Given the description of an element on the screen output the (x, y) to click on. 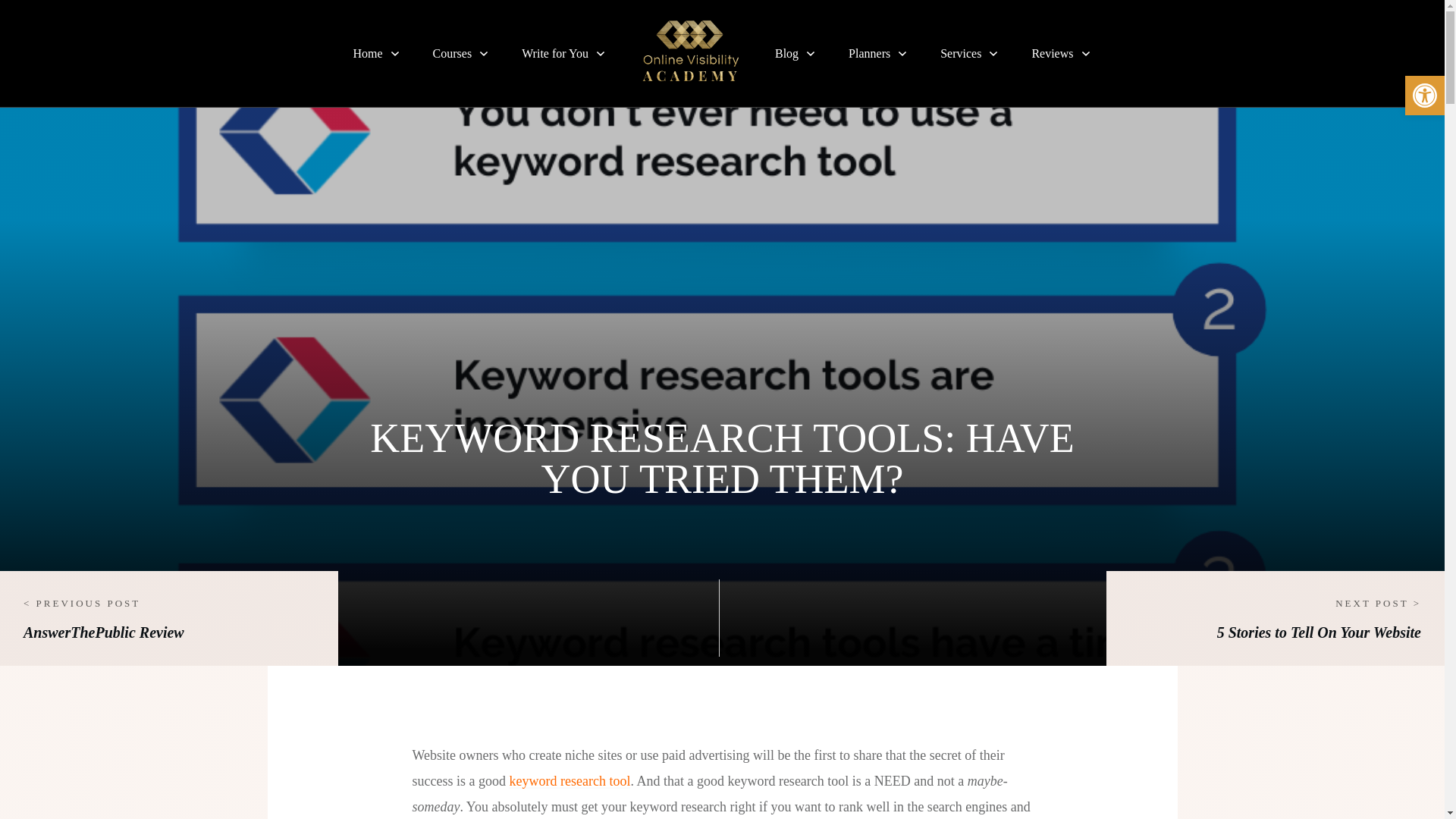
Write for You (564, 52)
Courses (461, 52)
Blog (795, 52)
Accessibility Tools (1424, 95)
Home (376, 52)
